Given the description of an element on the screen output the (x, y) to click on. 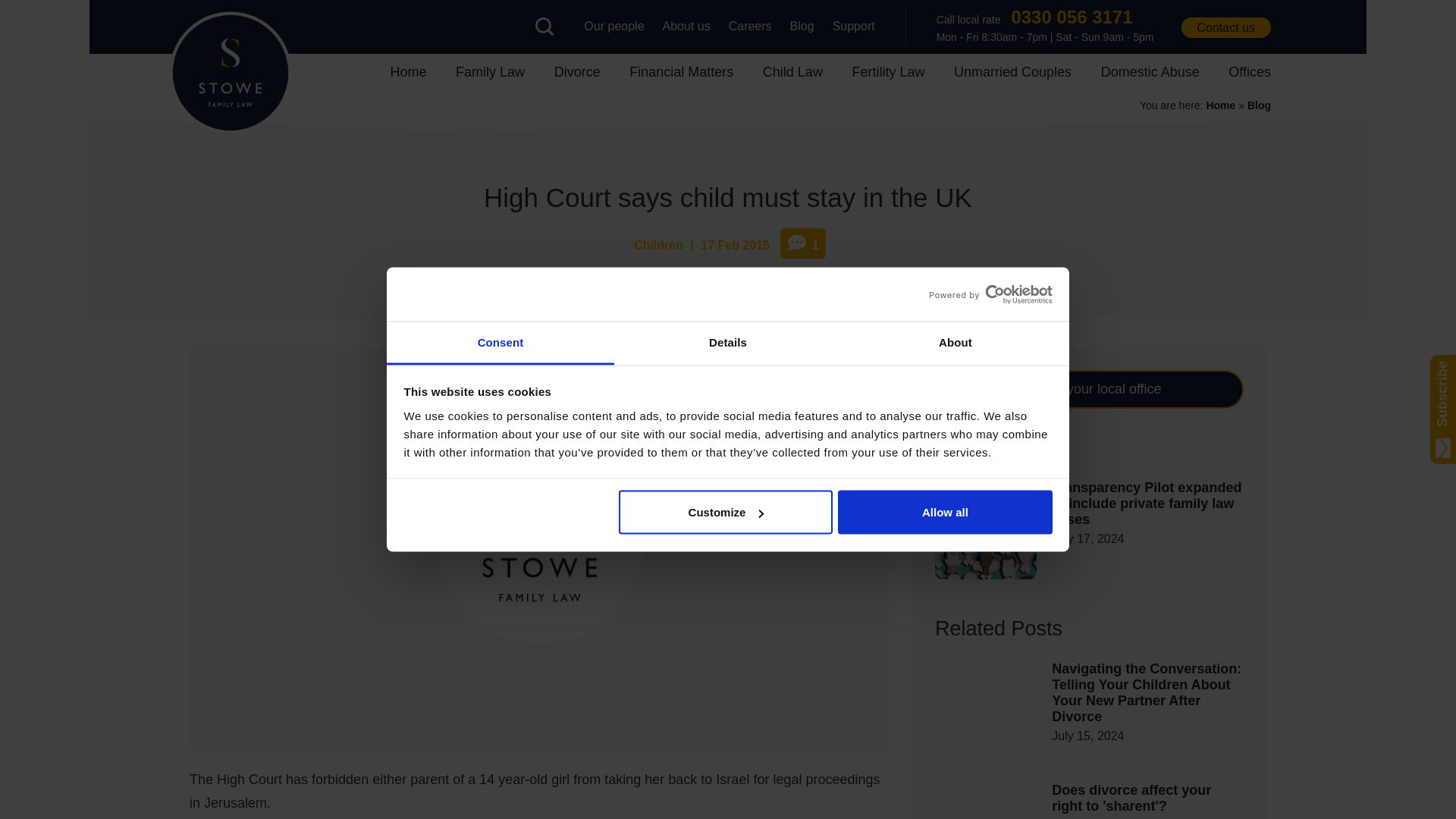
About (954, 342)
1 (802, 243)
Consent (500, 342)
Details (727, 342)
